Given the description of an element on the screen output the (x, y) to click on. 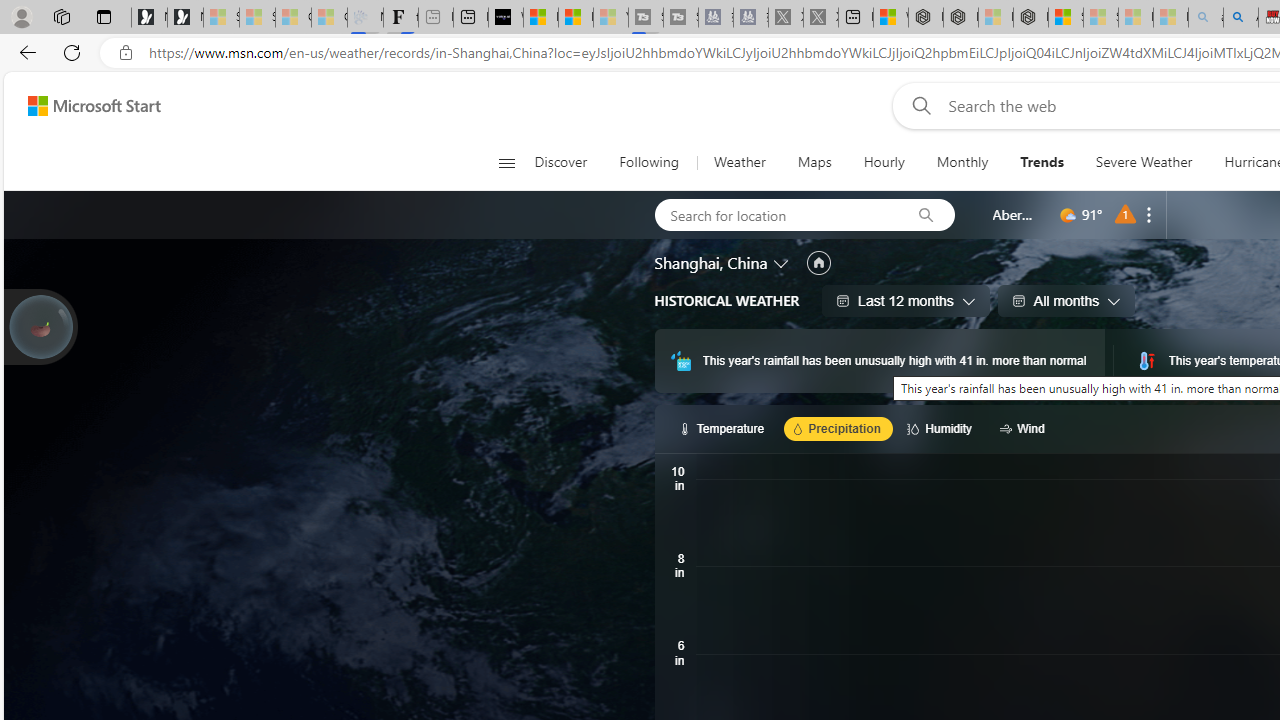
Maps (813, 162)
Severe Weather (1144, 162)
Temperature (724, 428)
Precipitation (838, 428)
Last 12 months (905, 300)
Class: button-glyph (505, 162)
